Given the description of an element on the screen output the (x, y) to click on. 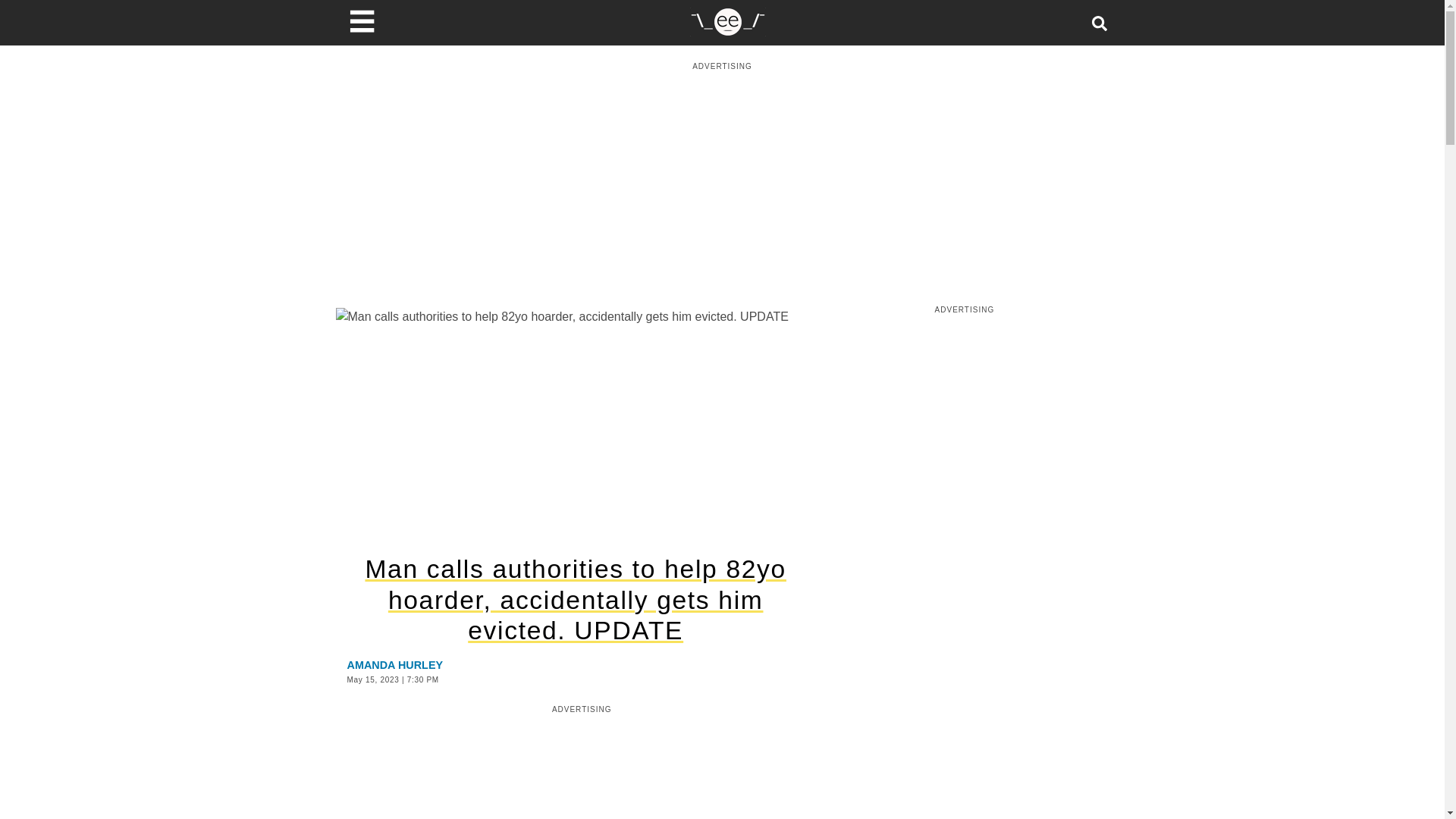
AMANDA HURLEY (395, 664)
